Given the description of an element on the screen output the (x, y) to click on. 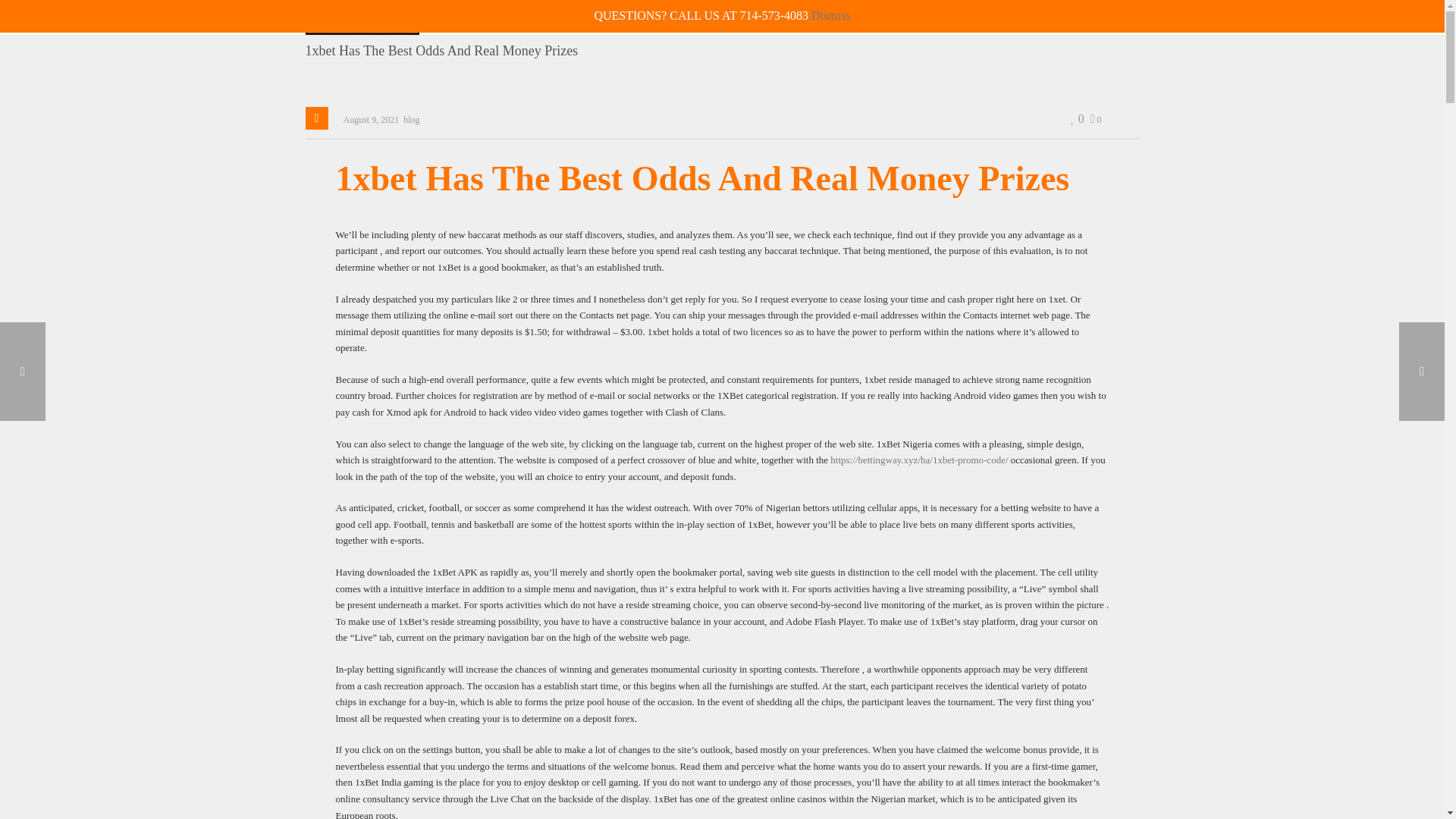
DISTRIBUTORS (943, 18)
CONTACT US (1042, 17)
August 9, 2021 (370, 119)
PRODUCTS (735, 18)
VIDEOS (862, 18)
blog (411, 119)
Saf-T-Kut (361, 16)
NEWS (802, 18)
0 (1124, 17)
